Given the description of an element on the screen output the (x, y) to click on. 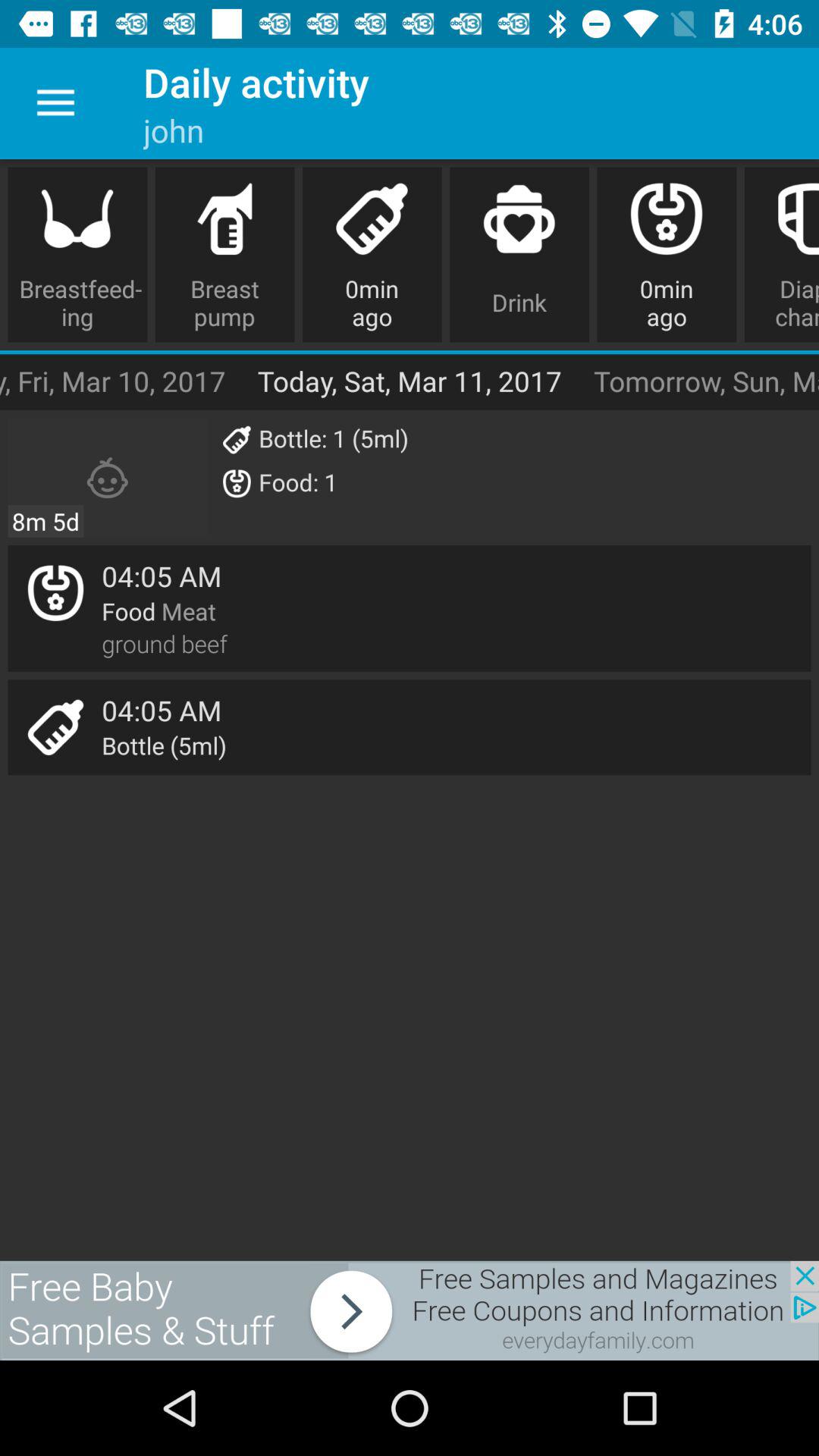
give advertisement information (409, 1310)
